Given the description of an element on the screen output the (x, y) to click on. 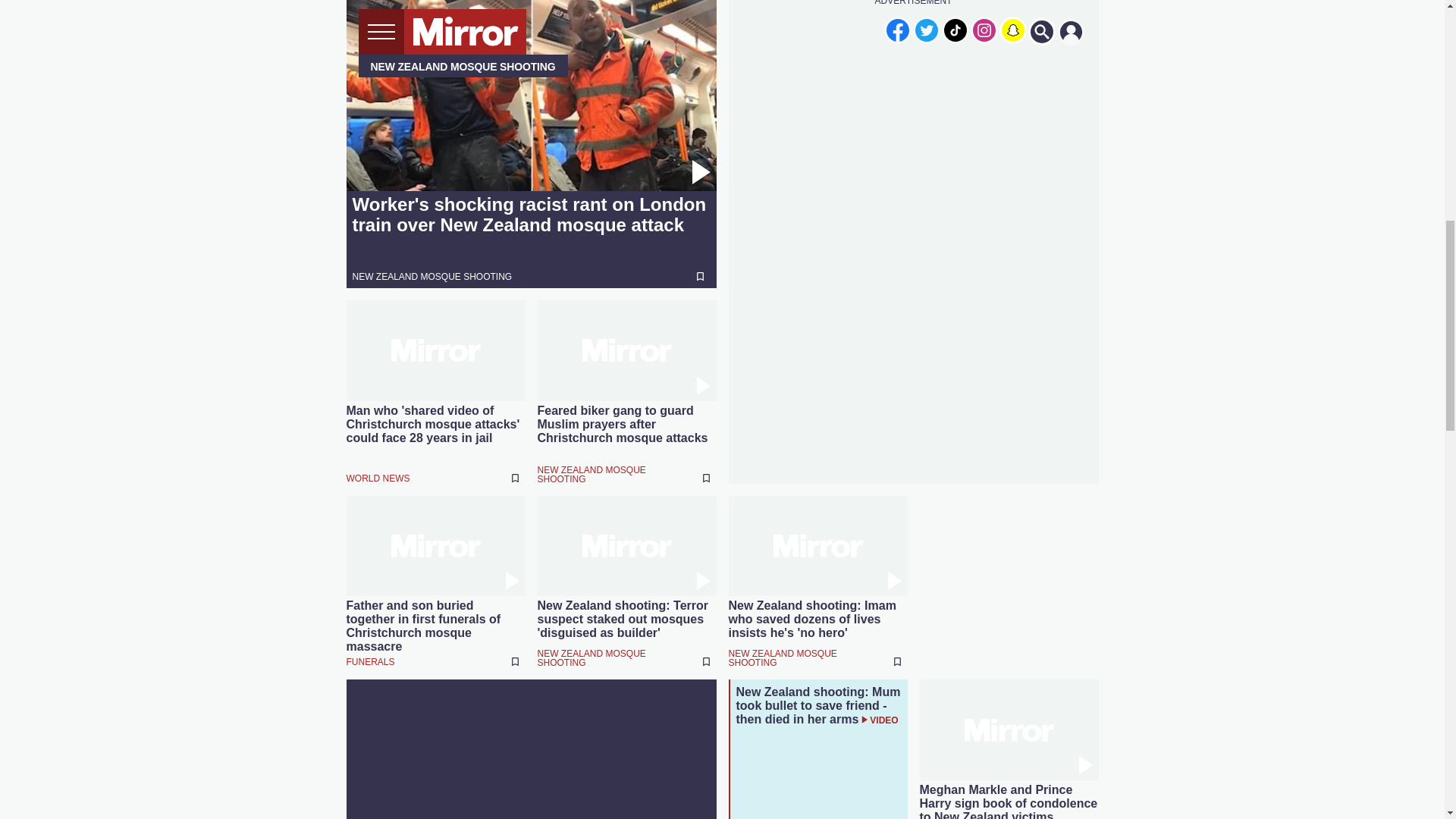
NEW ZEALAND MOSQUE SHOOTING (432, 276)
